Given the description of an element on the screen output the (x, y) to click on. 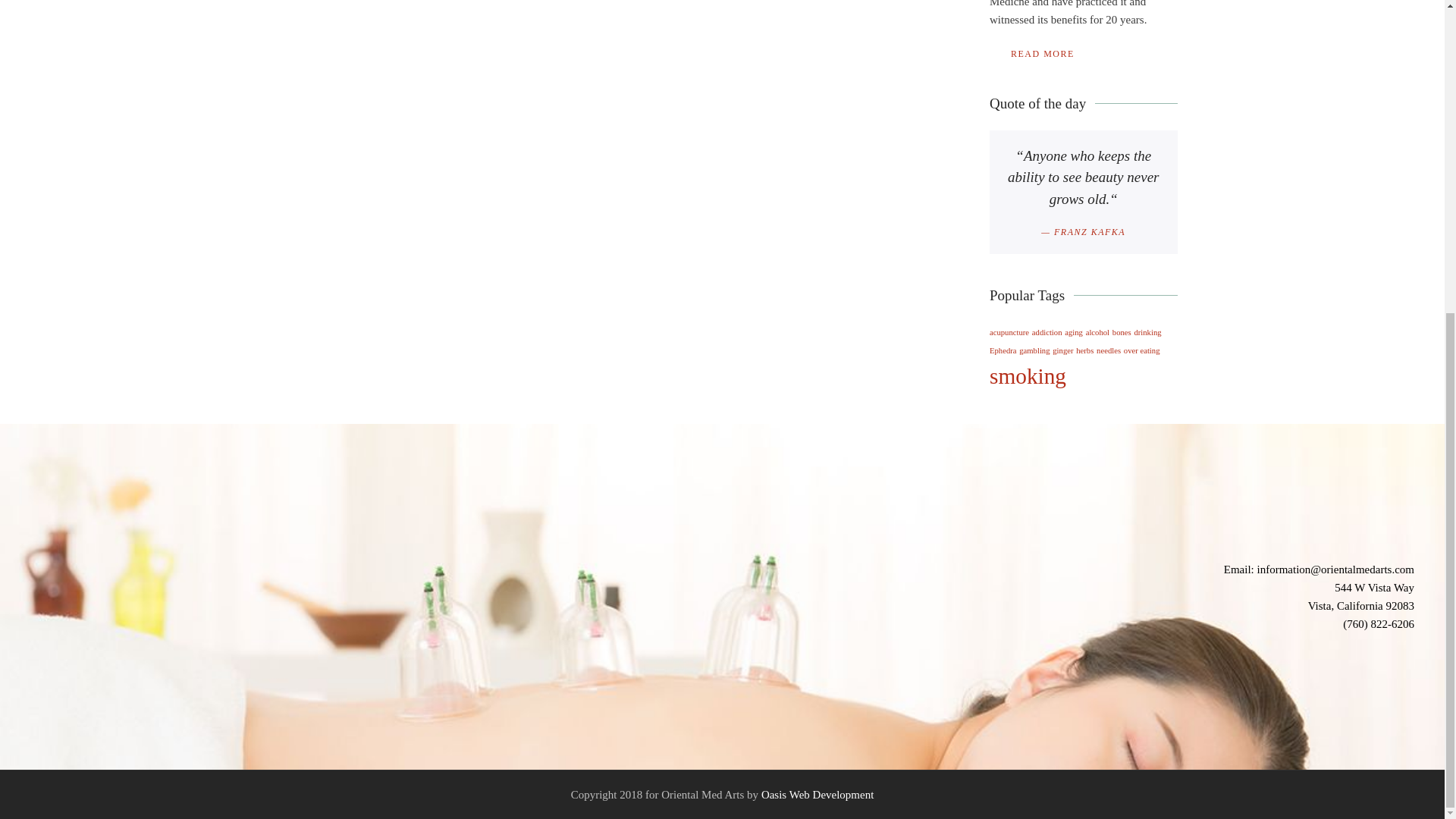
addiction (1047, 332)
acupuncture (1009, 332)
Ephedra (1003, 350)
More (1032, 53)
drinking (1147, 332)
alcohol (1097, 332)
aging (1073, 332)
bones (1121, 332)
gambling (1034, 350)
READ MORE (1032, 53)
